Given the description of an element on the screen output the (x, y) to click on. 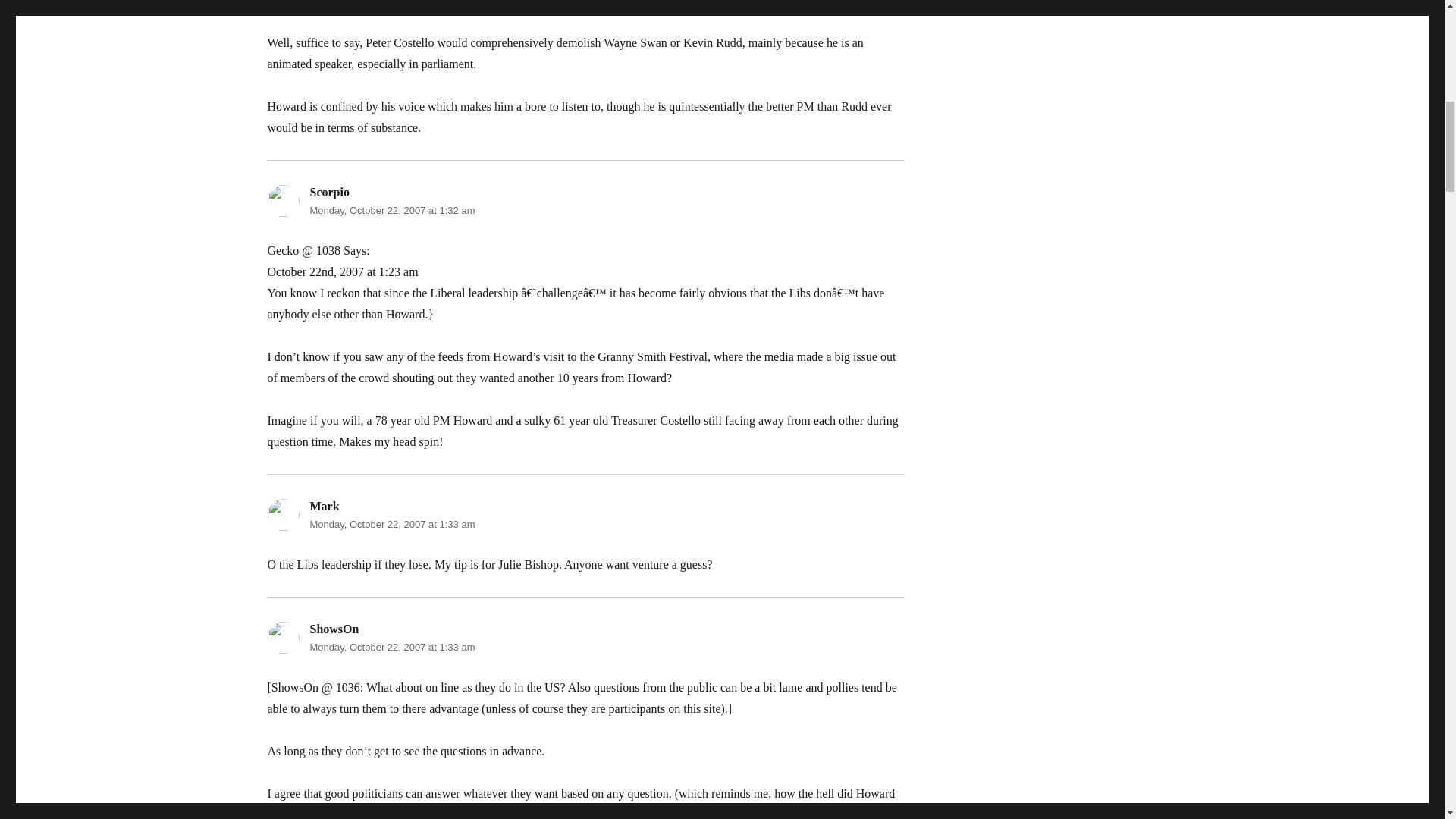
Monday, October 22, 2007 at 1:33 am (391, 523)
Monday, October 22, 2007 at 1:33 am (391, 646)
Monday, October 22, 2007 at 1:32 am (391, 210)
